Given the description of an element on the screen output the (x, y) to click on. 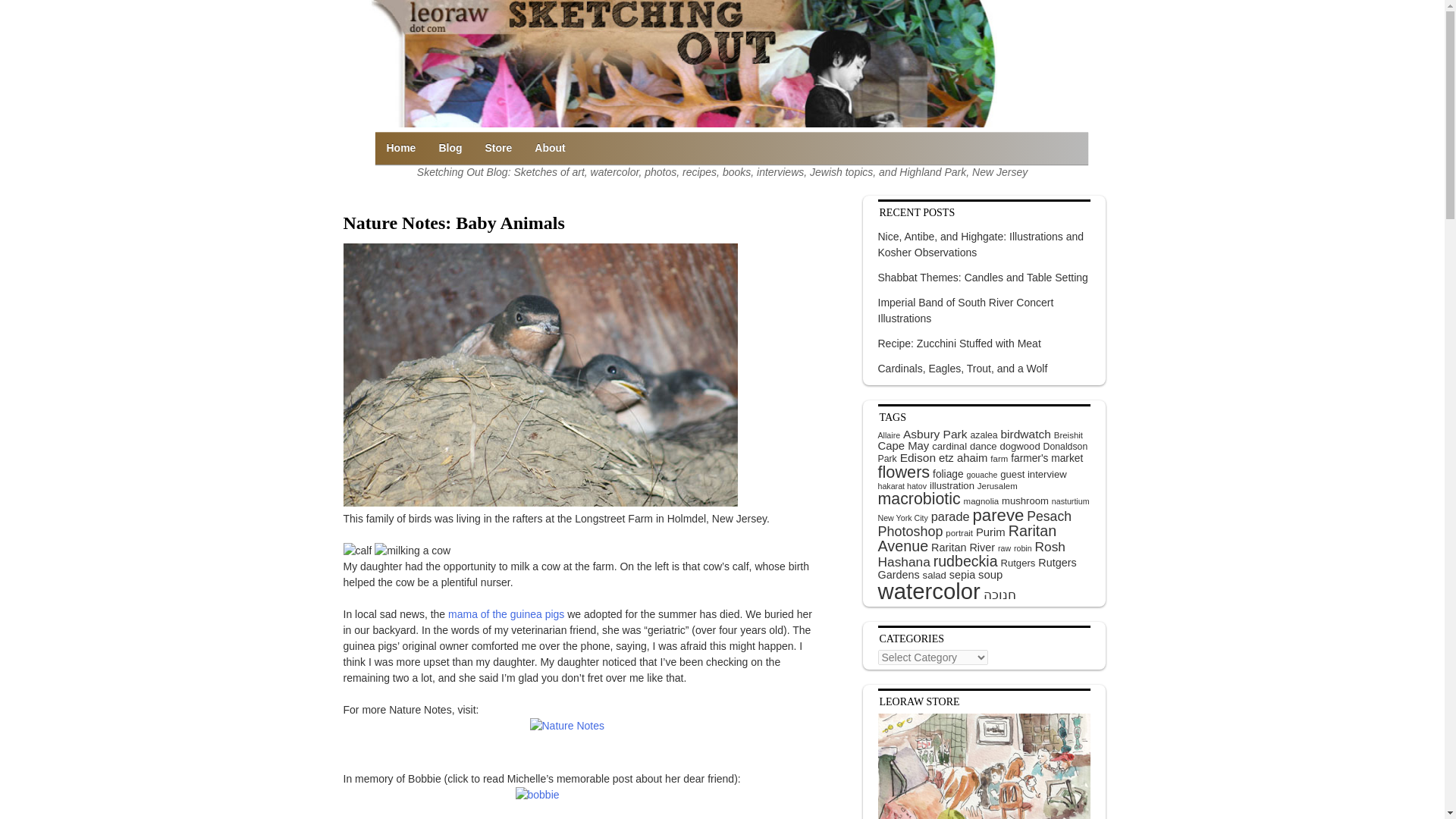
nature-notes (577, 736)
Home (400, 147)
calf (356, 550)
milking (411, 550)
bobbie (578, 803)
Blog (449, 147)
Store (499, 147)
About (549, 147)
mama of the guinea pigs (506, 614)
